Given the description of an element on the screen output the (x, y) to click on. 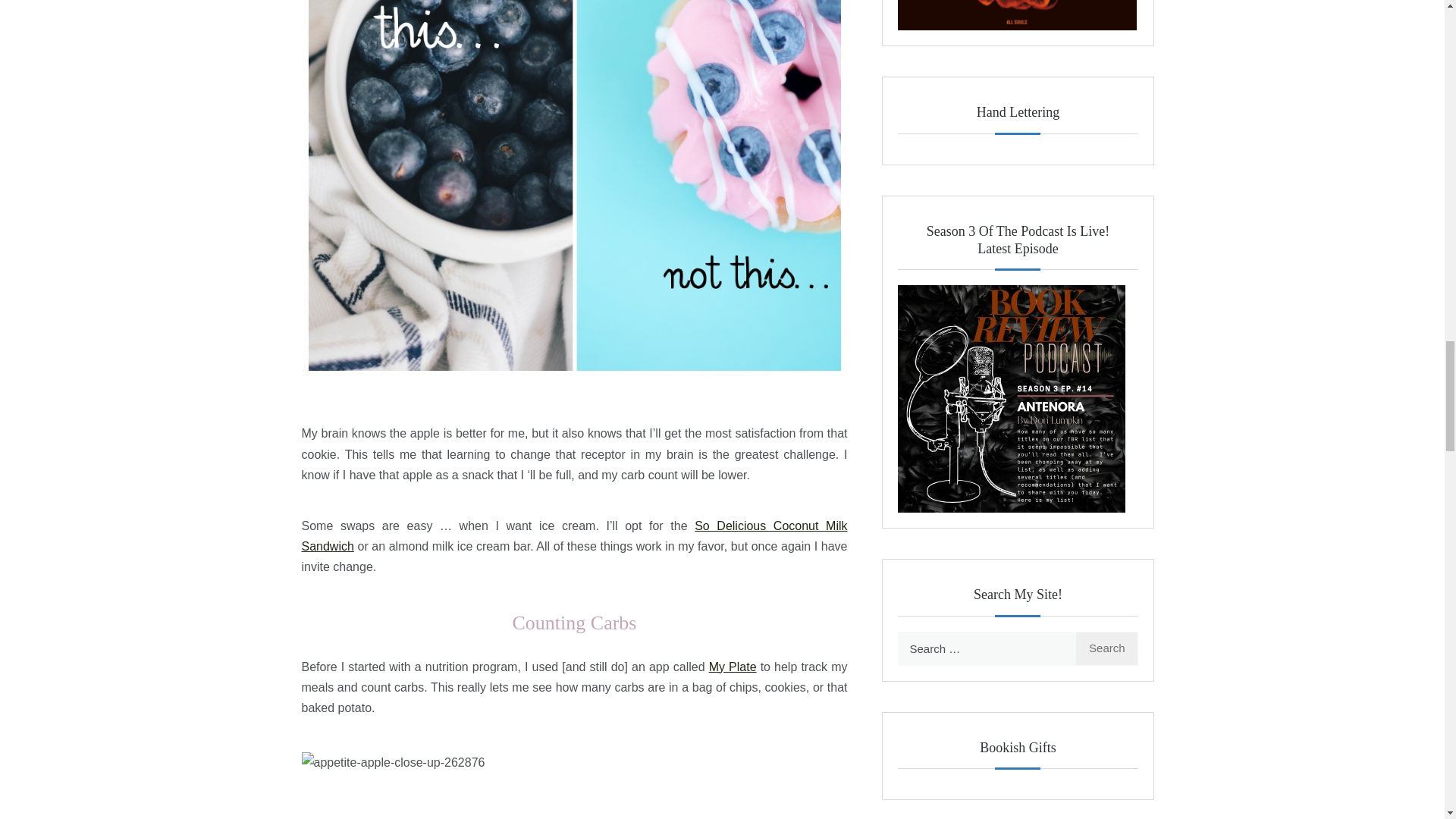
Enhance Your Photo's! (1011, 398)
My Plate (733, 666)
Thanksgiving Prep List (1018, 15)
So Delicious Coconut Milk Sandwich (574, 535)
Search (1106, 648)
Search (1106, 648)
